Given the description of an element on the screen output the (x, y) to click on. 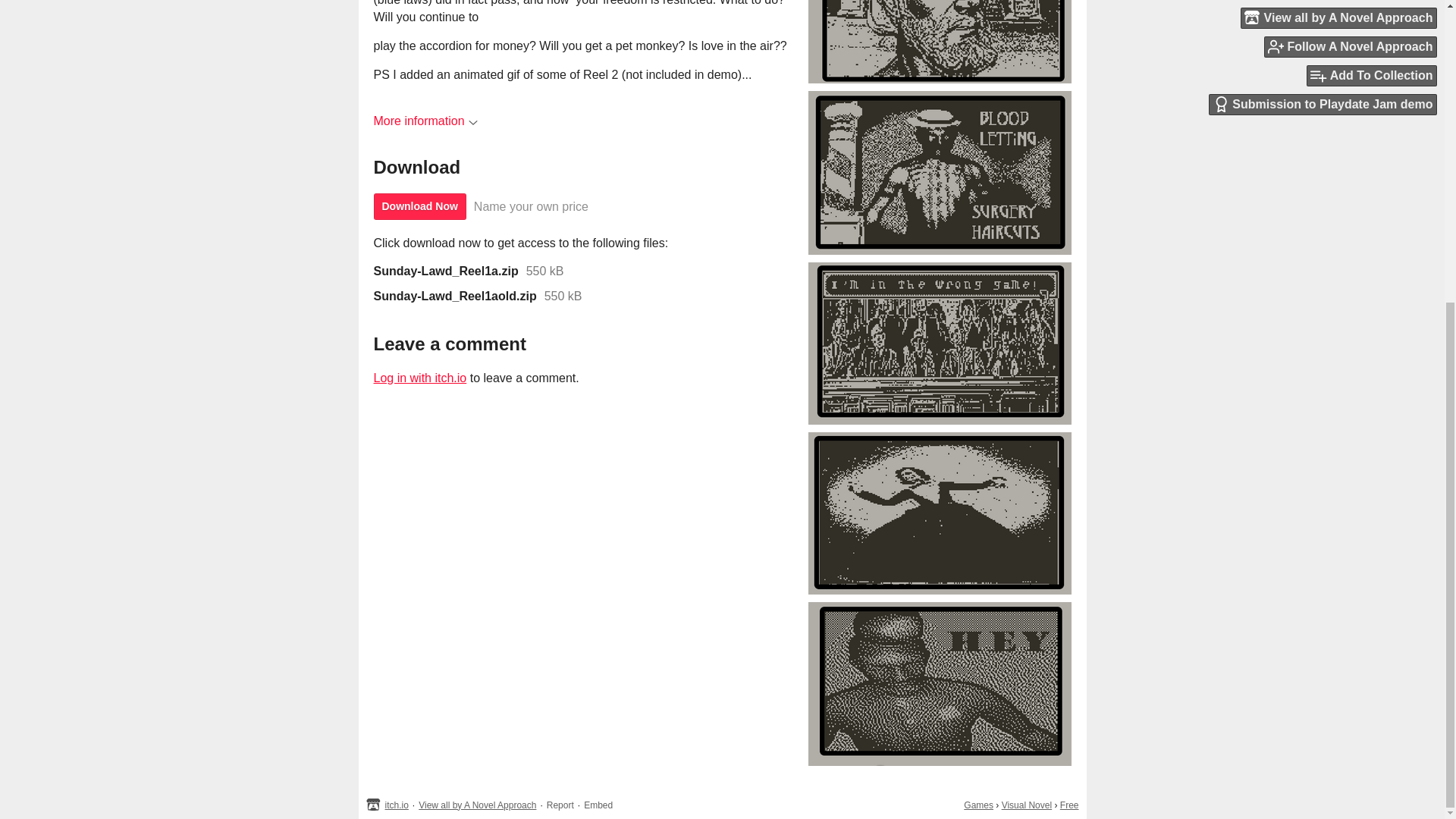
View all by A Novel Approach (477, 805)
More information (424, 120)
Log in with itch.io (418, 377)
Download Now (418, 206)
Games (977, 805)
Report (560, 805)
itch.io (397, 805)
Visual Novel (1026, 805)
Embed (597, 805)
